Given the description of an element on the screen output the (x, y) to click on. 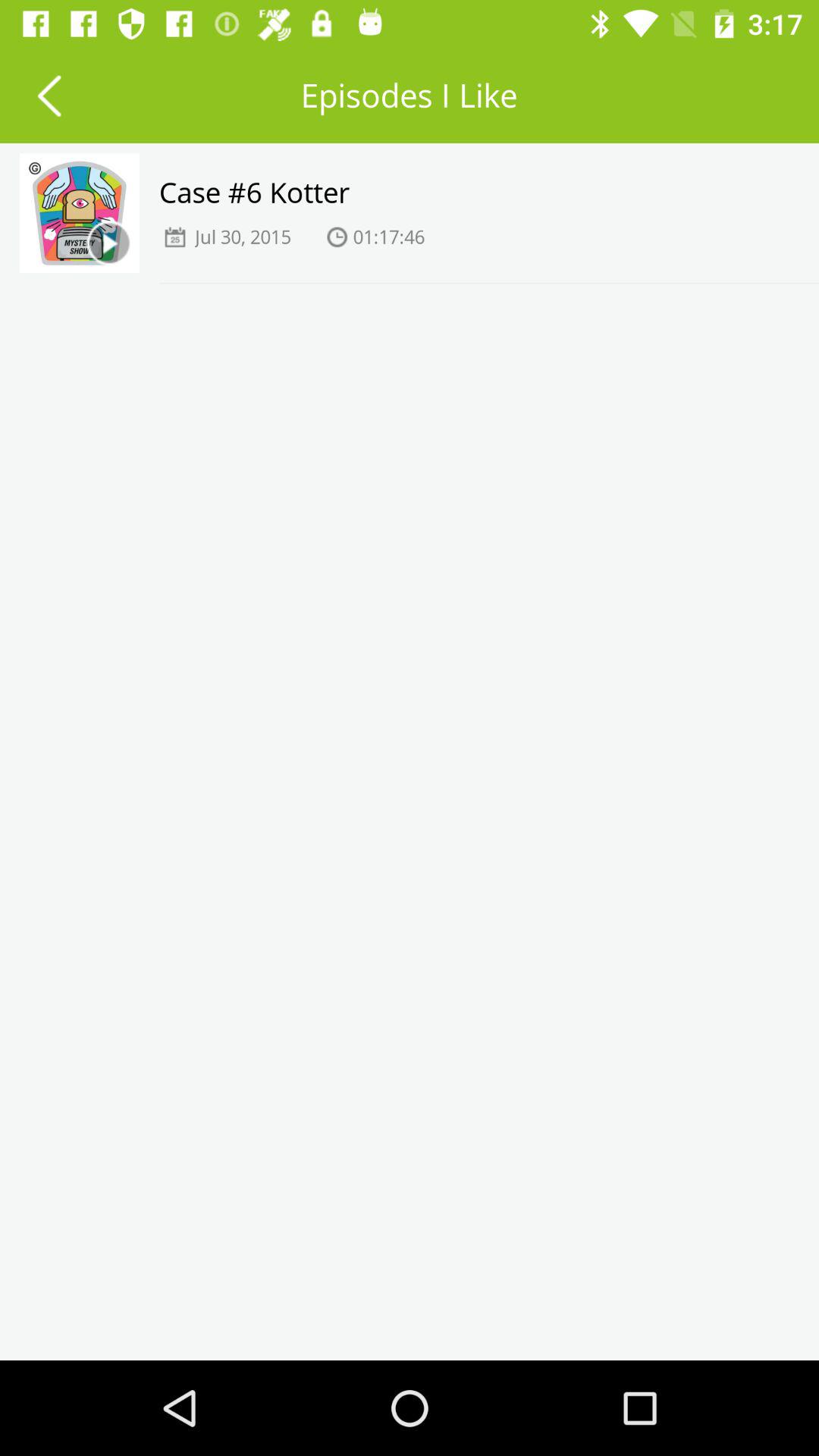
select item next to the episodes i like icon (48, 95)
